Given the description of an element on the screen output the (x, y) to click on. 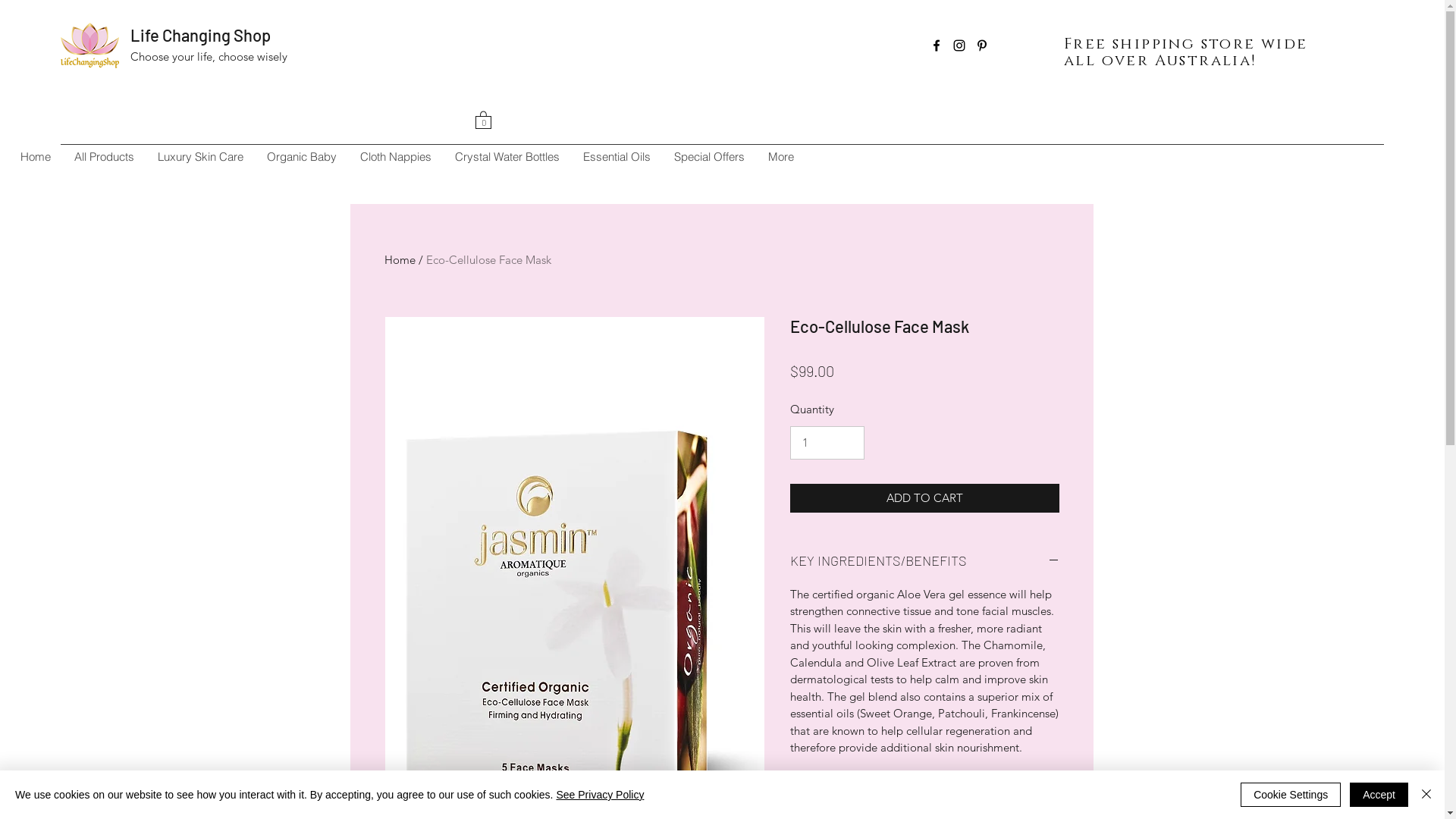
All Products Element type: text (103, 156)
Organic Baby Element type: text (301, 156)
DIRECTIONS OF USE Element type: text (924, 805)
0 Element type: text (483, 118)
See Privacy Policy Element type: text (599, 794)
Home Element type: text (35, 156)
Special Offers Element type: text (709, 156)
Essential Oils Element type: text (616, 156)
Home Element type: text (398, 259)
Cookie Settings Element type: text (1290, 794)
Cloth Nappies Element type: text (395, 156)
Eco-Cellulose Face Mask Element type: text (488, 259)
Accept Element type: text (1378, 794)
Crystal Water Bottles Element type: text (506, 156)
Life Changing Shop Element type: text (200, 34)
ADD TO CART Element type: text (924, 498)
KEY INGREDIENTS/BENEFITS Element type: text (924, 561)
